Given the description of an element on the screen output the (x, y) to click on. 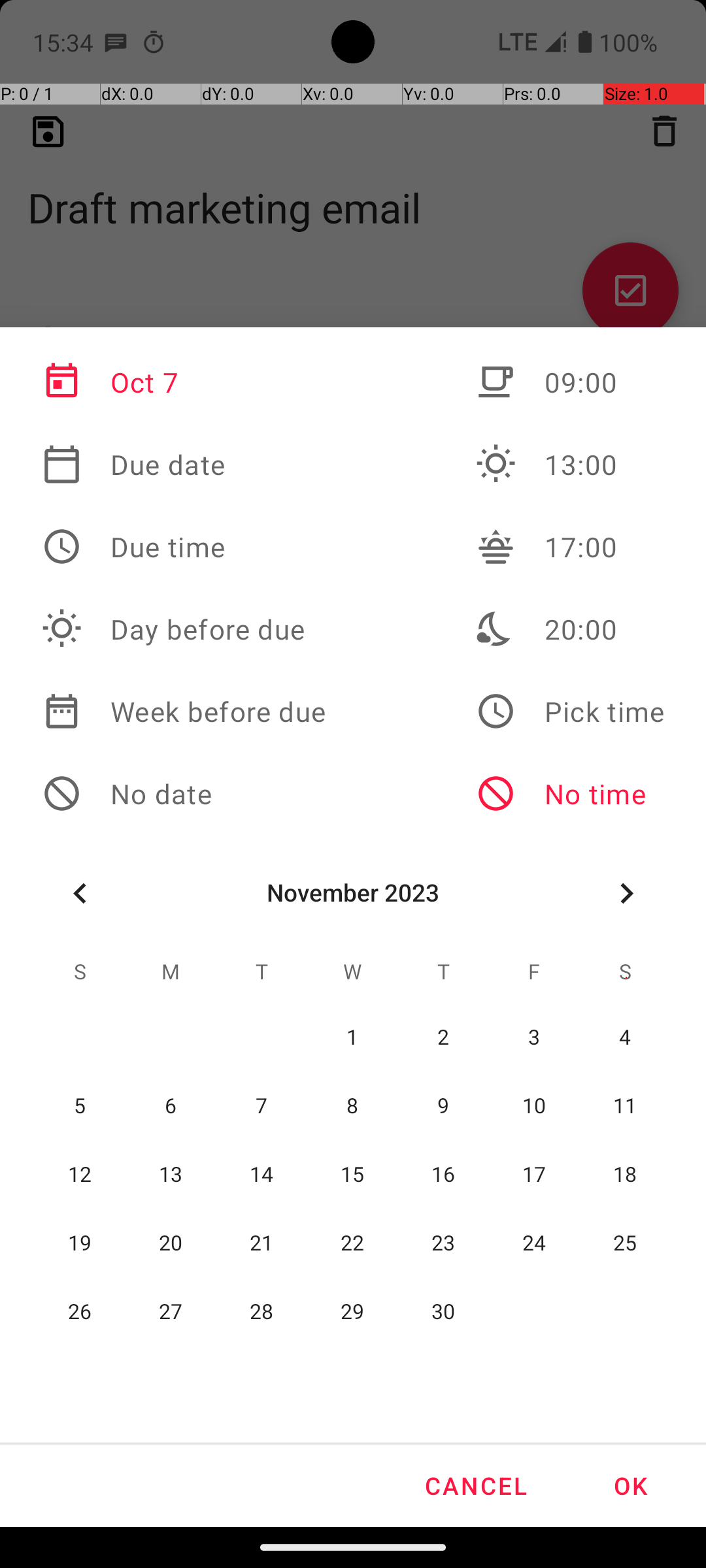
Oct 7 Element type: android.widget.CompoundButton (183, 382)
